Given the description of an element on the screen output the (x, y) to click on. 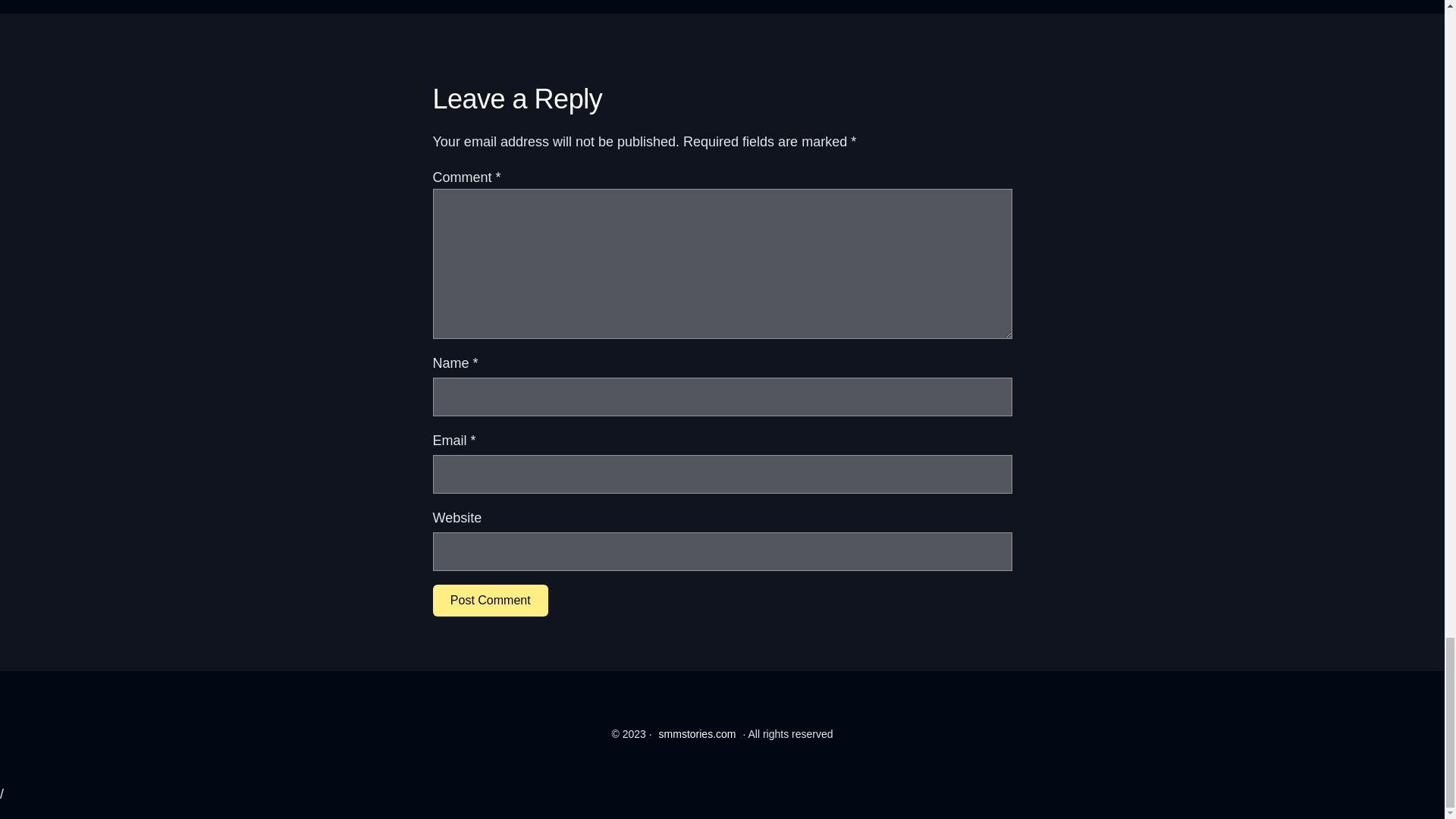
smmstories.com (697, 734)
Post Comment (489, 599)
Post Comment (489, 599)
